Given the description of an element on the screen output the (x, y) to click on. 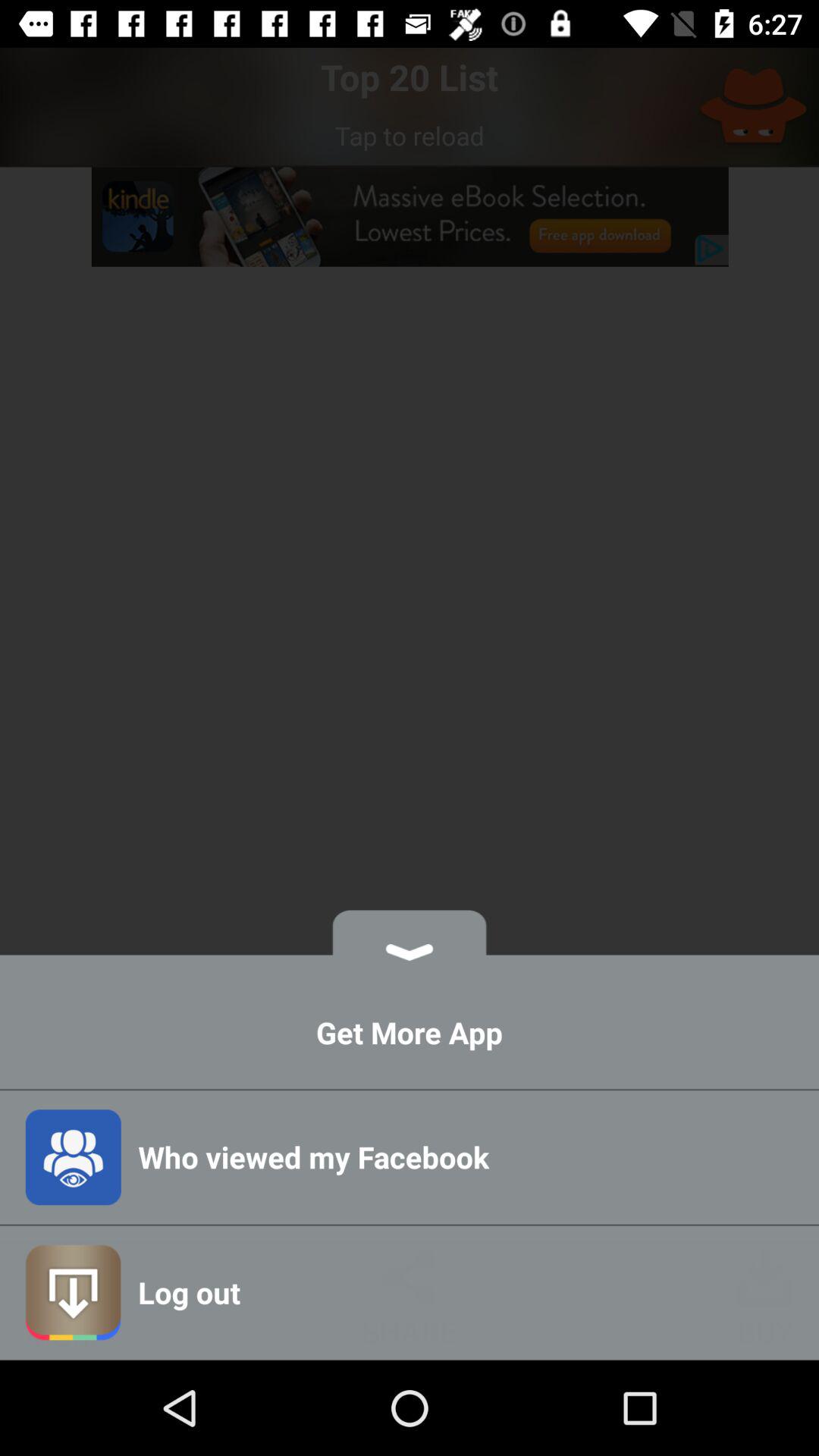
tap the item below the top 20 list app (409, 135)
